Given the description of an element on the screen output the (x, y) to click on. 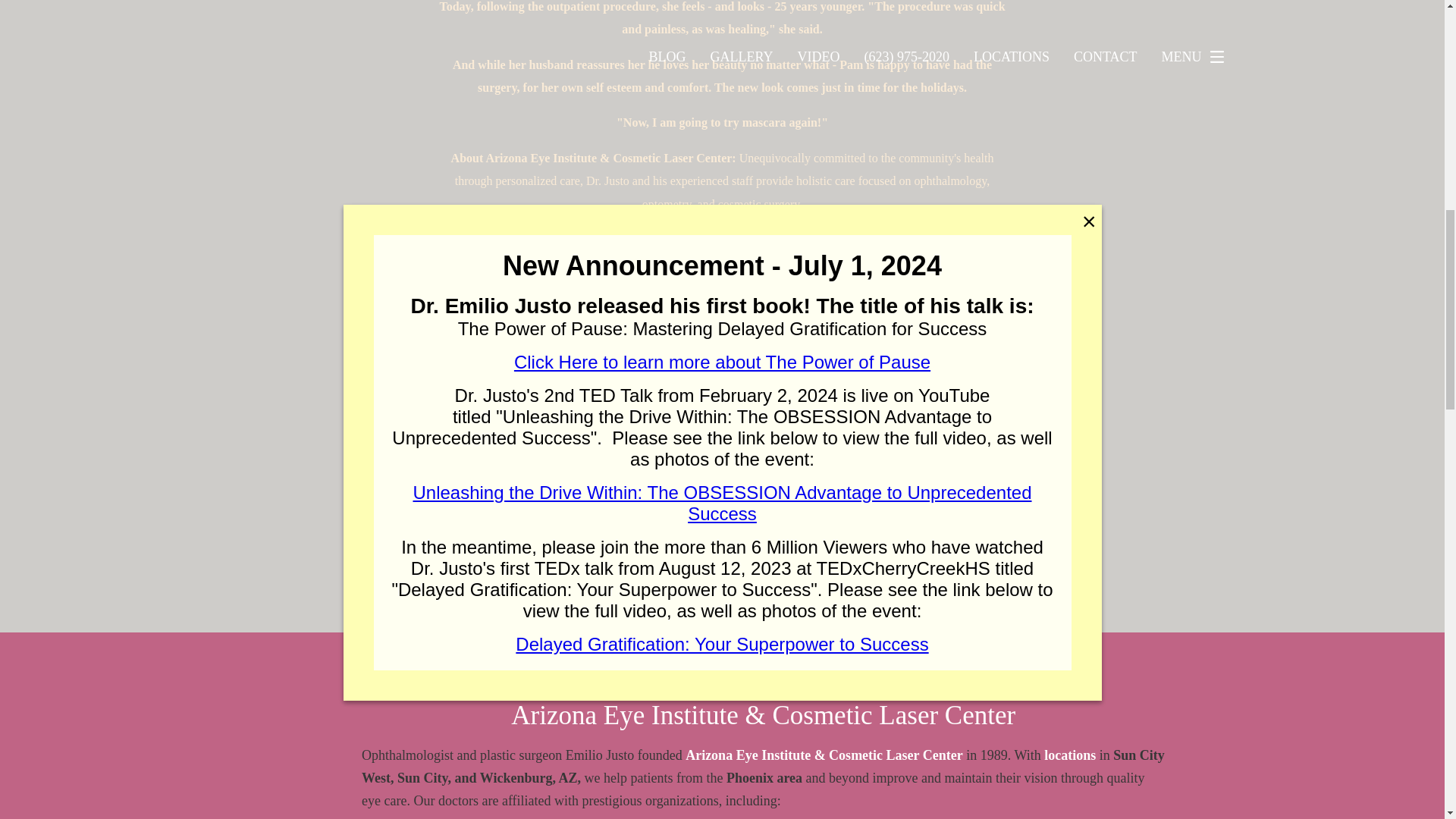
All Posts by Month (724, 552)
this video: (849, 273)
Blepharoplasty (799, 460)
Atom (810, 552)
here. (784, 238)
All Blog Posts (488, 460)
Popular Tags (617, 552)
locations (1069, 754)
Eyelid Surgery (492, 493)
RSS (853, 552)
